Given the description of an element on the screen output the (x, y) to click on. 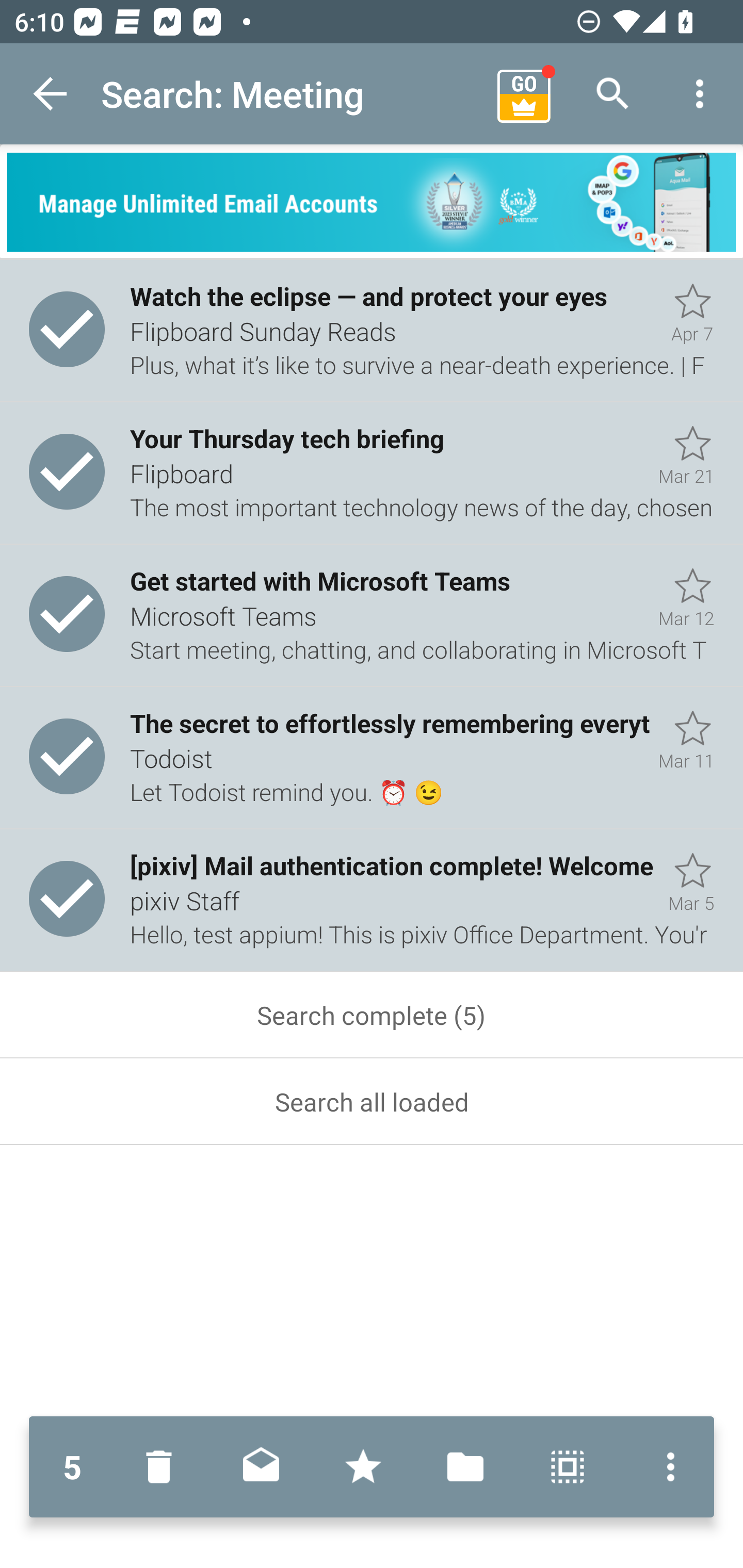
Navigate up (50, 93)
Search (612, 93)
More options (699, 93)
Search complete (5) (371, 1015)
Search all loaded (371, 1101)
5 5 messages (71, 1466)
Move to Deleted (162, 1466)
Mark read (261, 1466)
Mark with stars (363, 1466)
Move to folder… (465, 1466)
Select all (567, 1466)
More options (666, 1466)
